Given the description of an element on the screen output the (x, y) to click on. 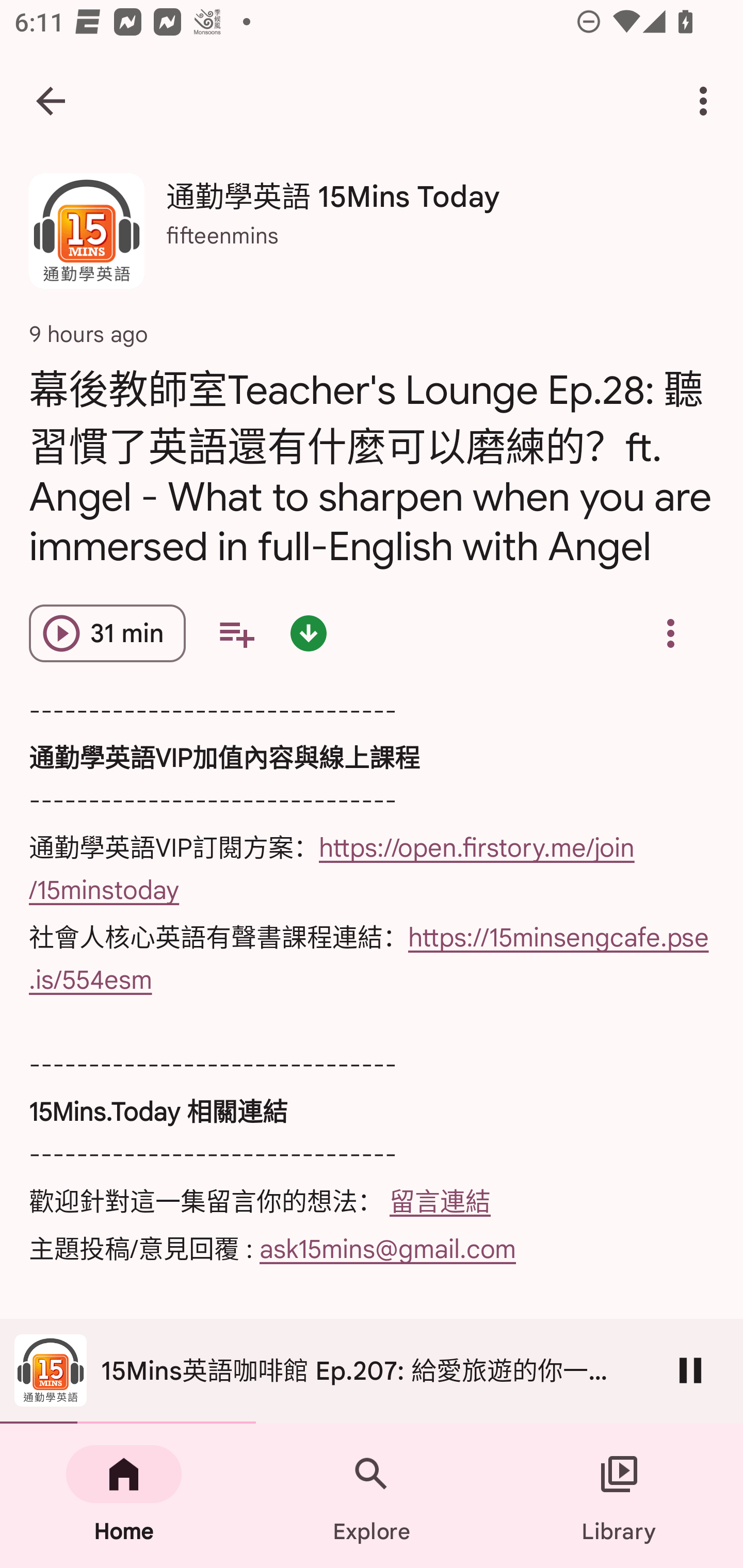
Navigate up (50, 101)
More options (706, 101)
通勤學英語 15Mins Today 通勤學英語 15Mins Today fifteenmins (371, 238)
Add to your queue (235, 633)
Episode downloaded - double tap for options (308, 633)
Overflow menu (670, 633)
Pause (690, 1370)
Explore (371, 1495)
Library (619, 1495)
